Given the description of an element on the screen output the (x, y) to click on. 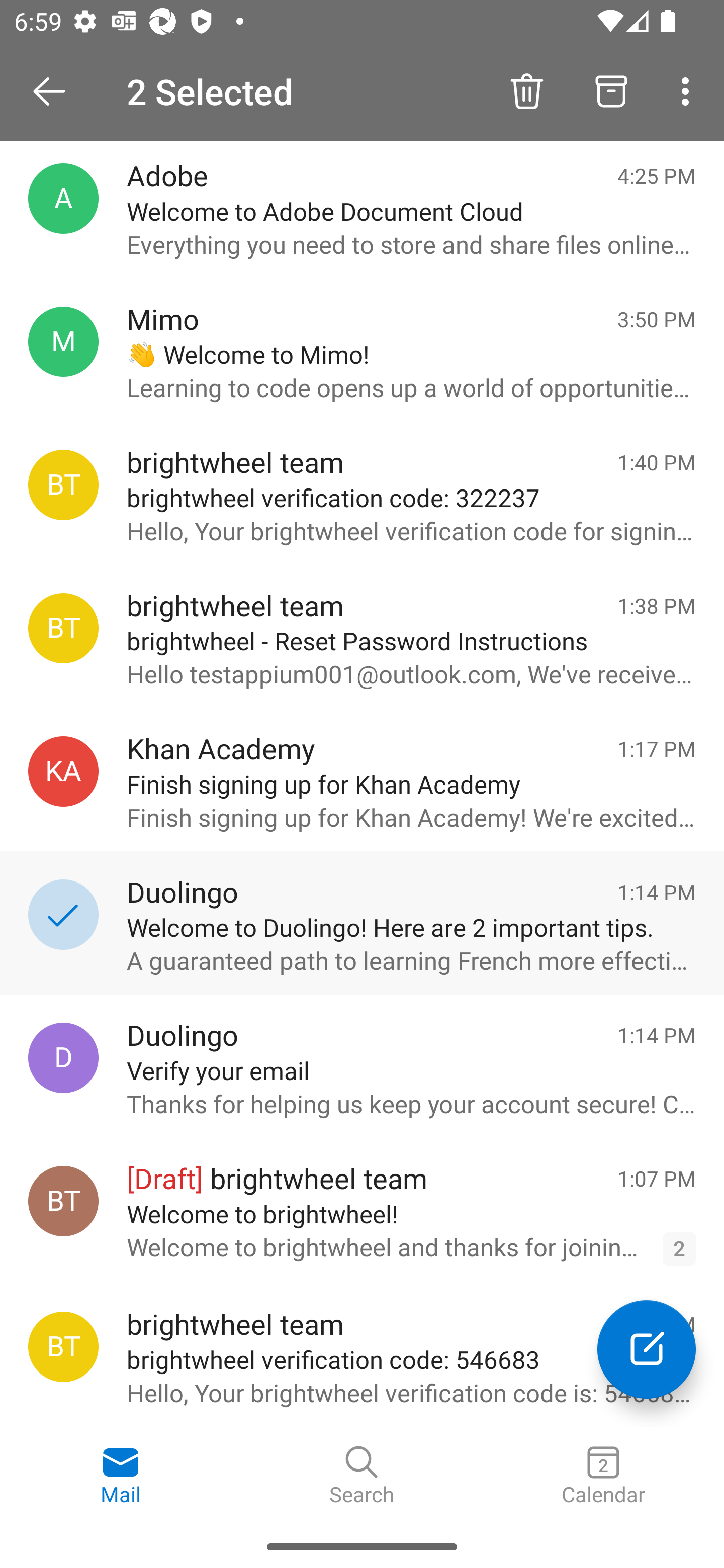
Delete (526, 90)
Archive (611, 90)
More options (688, 90)
Open Navigation Drawer (55, 91)
Adobe, message@adobe.com (63, 198)
Mimo, support@getmimo.com (63, 341)
brightwheel team, recovery@mybrightwheel.com (63, 485)
brightwheel team, recovery@mybrightwheel.com (63, 627)
Khan Academy, no-reply@khanacademy.org (63, 770)
Duolingo, hello@duolingo.com (63, 1057)
brightwheel team, welcome@mybrightwheel.com (63, 1200)
Compose (646, 1348)
brightwheel team, recovery@mybrightwheel.com (63, 1346)
Search (361, 1475)
Calendar (603, 1475)
